Given the description of an element on the screen output the (x, y) to click on. 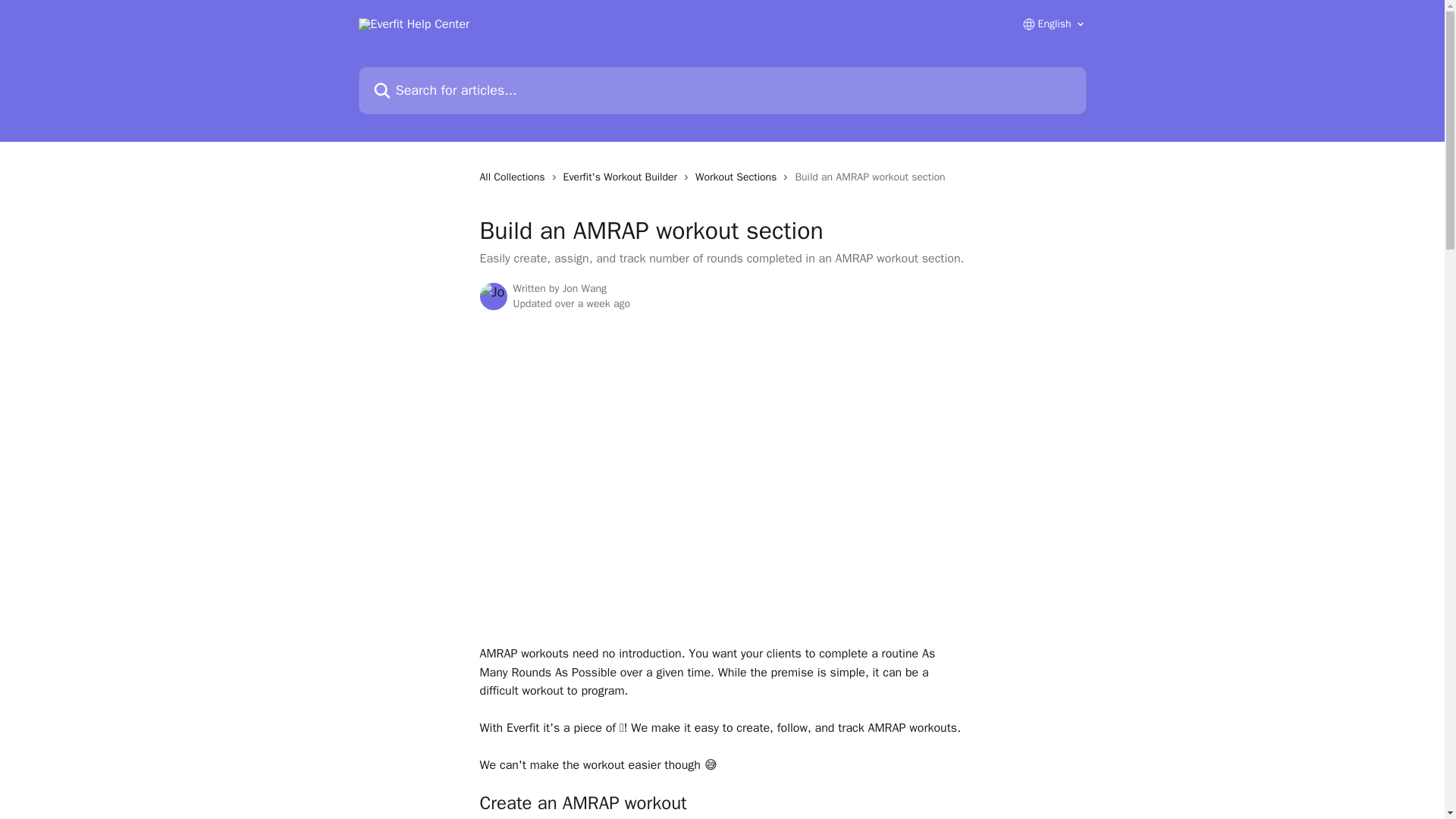
All Collections (514, 176)
Workout Sections (739, 176)
Everfit's Workout Builder (622, 176)
